Given the description of an element on the screen output the (x, y) to click on. 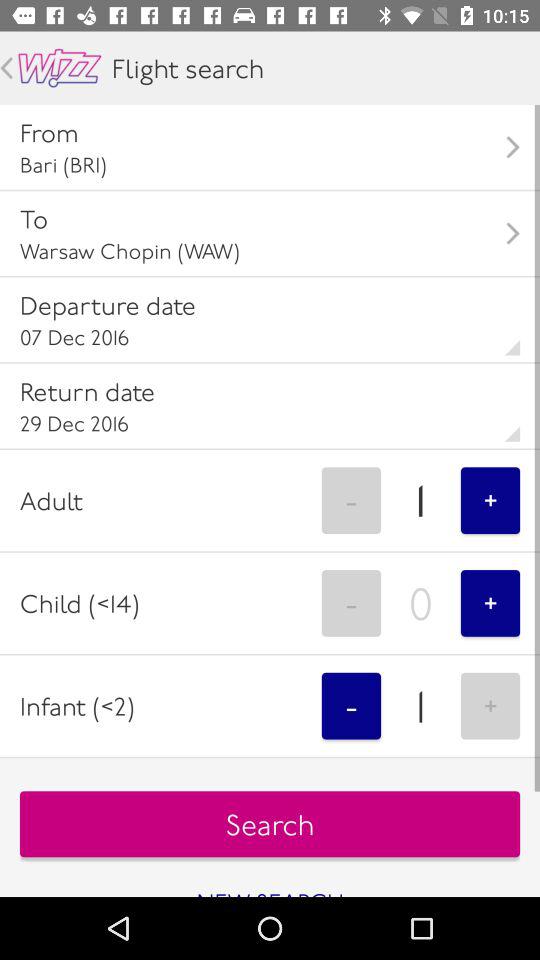
choose icon to the right of child (<14) icon (351, 603)
